Given the description of an element on the screen output the (x, y) to click on. 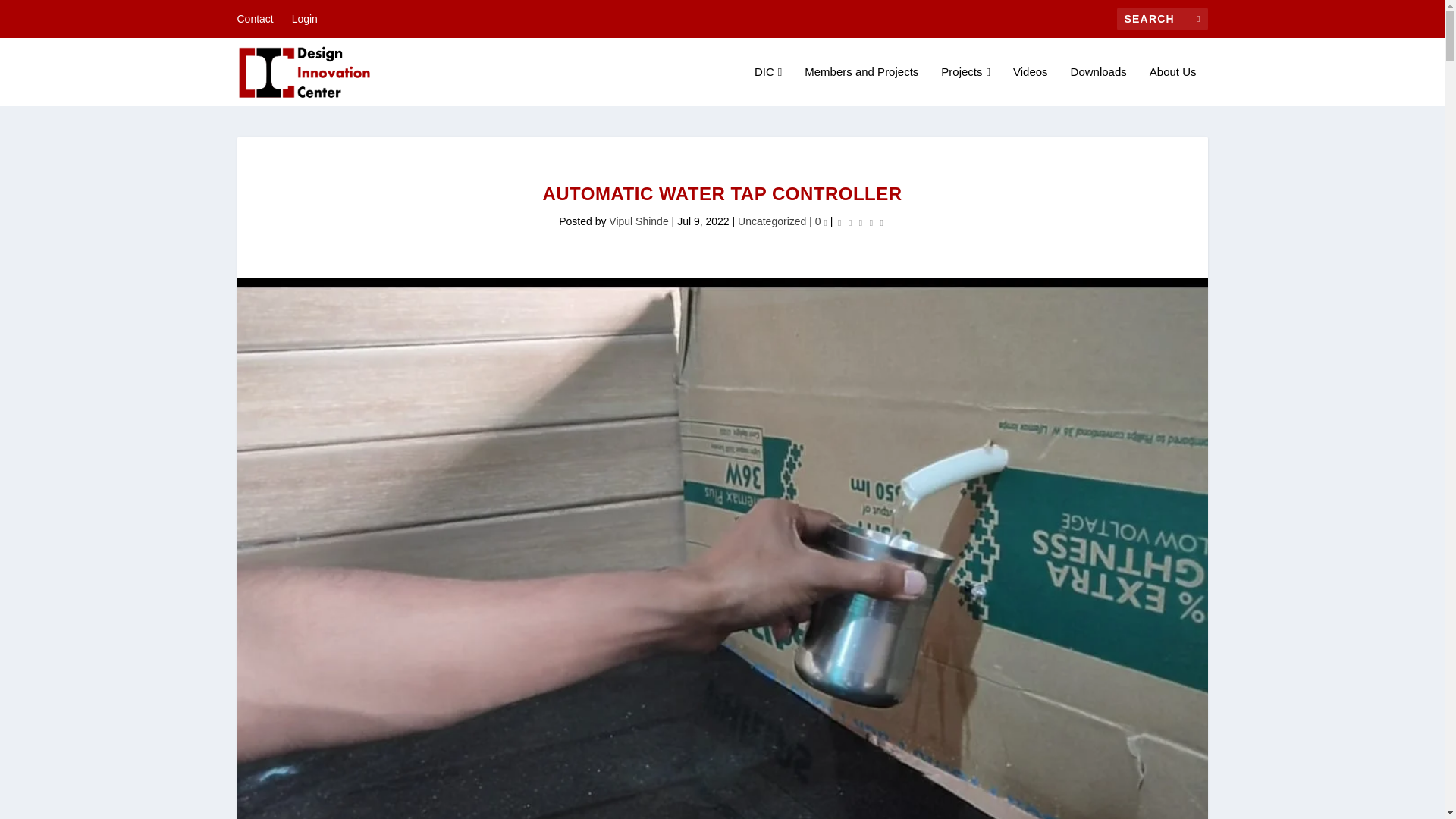
Rating: 0.00 (860, 221)
Posts by Vipul Shinde (638, 221)
Members and Projects (861, 85)
Projects (965, 85)
Search for: (1161, 18)
Contact (254, 18)
